Given the description of an element on the screen output the (x, y) to click on. 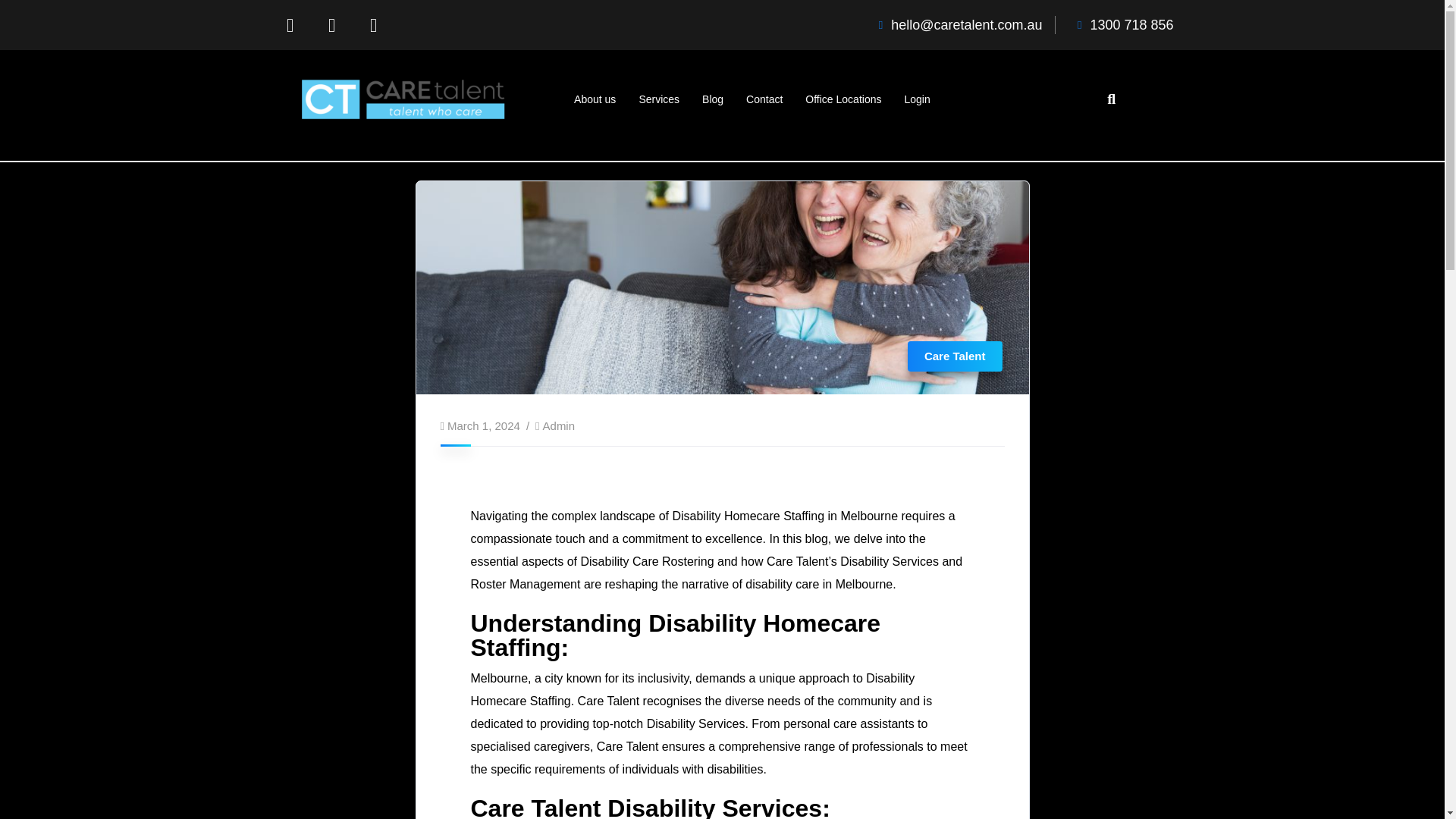
1300 718 856 (1120, 24)
Posts by admin (559, 425)
Office Locations (842, 99)
Services (658, 99)
Care Talent (955, 356)
About us (594, 99)
Admin (559, 425)
